Given the description of an element on the screen output the (x, y) to click on. 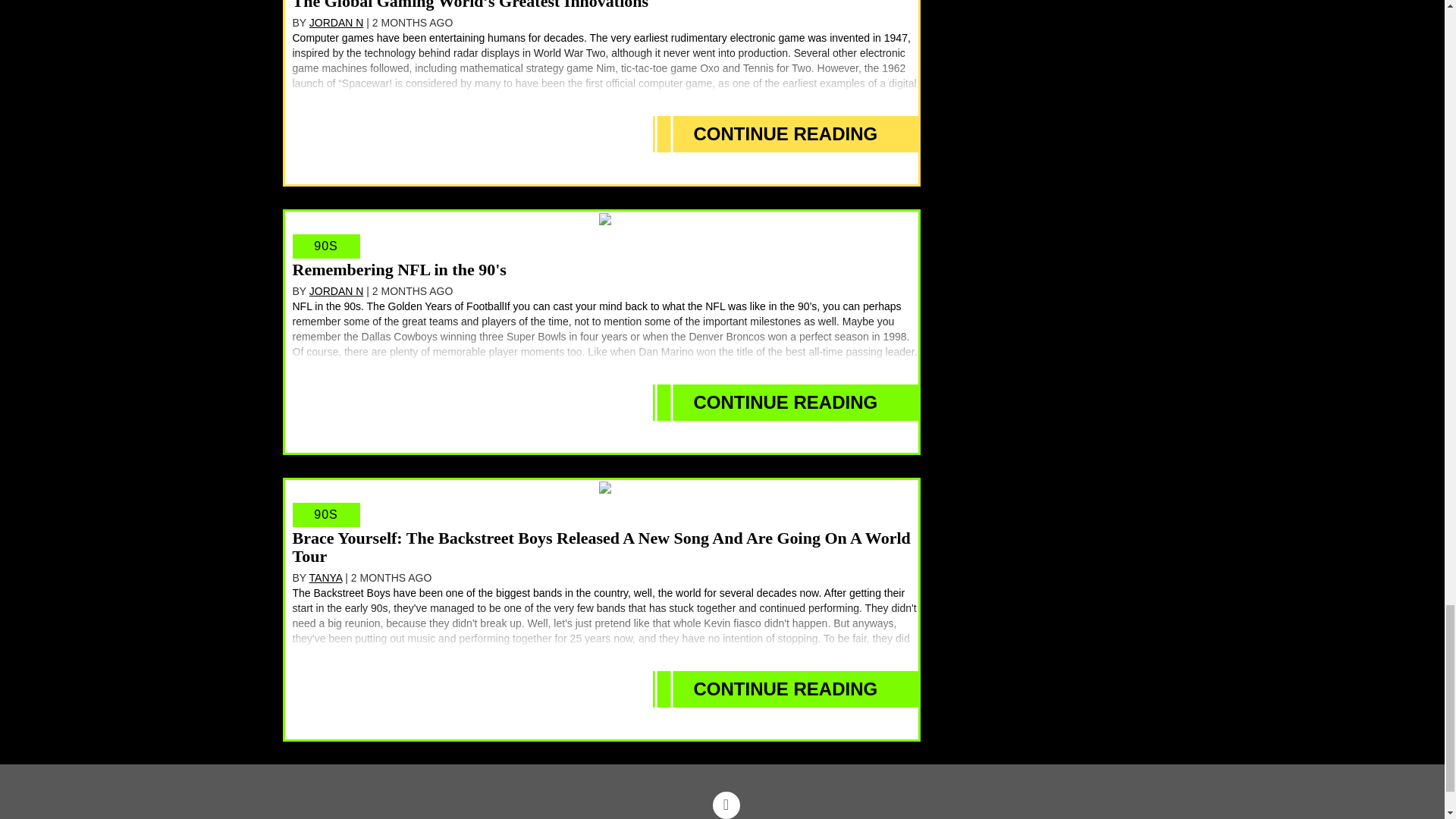
Remembering NFL in the 90's (399, 269)
Jordan N's Profile (336, 291)
90S (325, 246)
CONTINUE READING (785, 134)
JORDAN N (336, 22)
Tanya's Profile (325, 577)
Jordan N's Profile (336, 22)
